Given the description of an element on the screen output the (x, y) to click on. 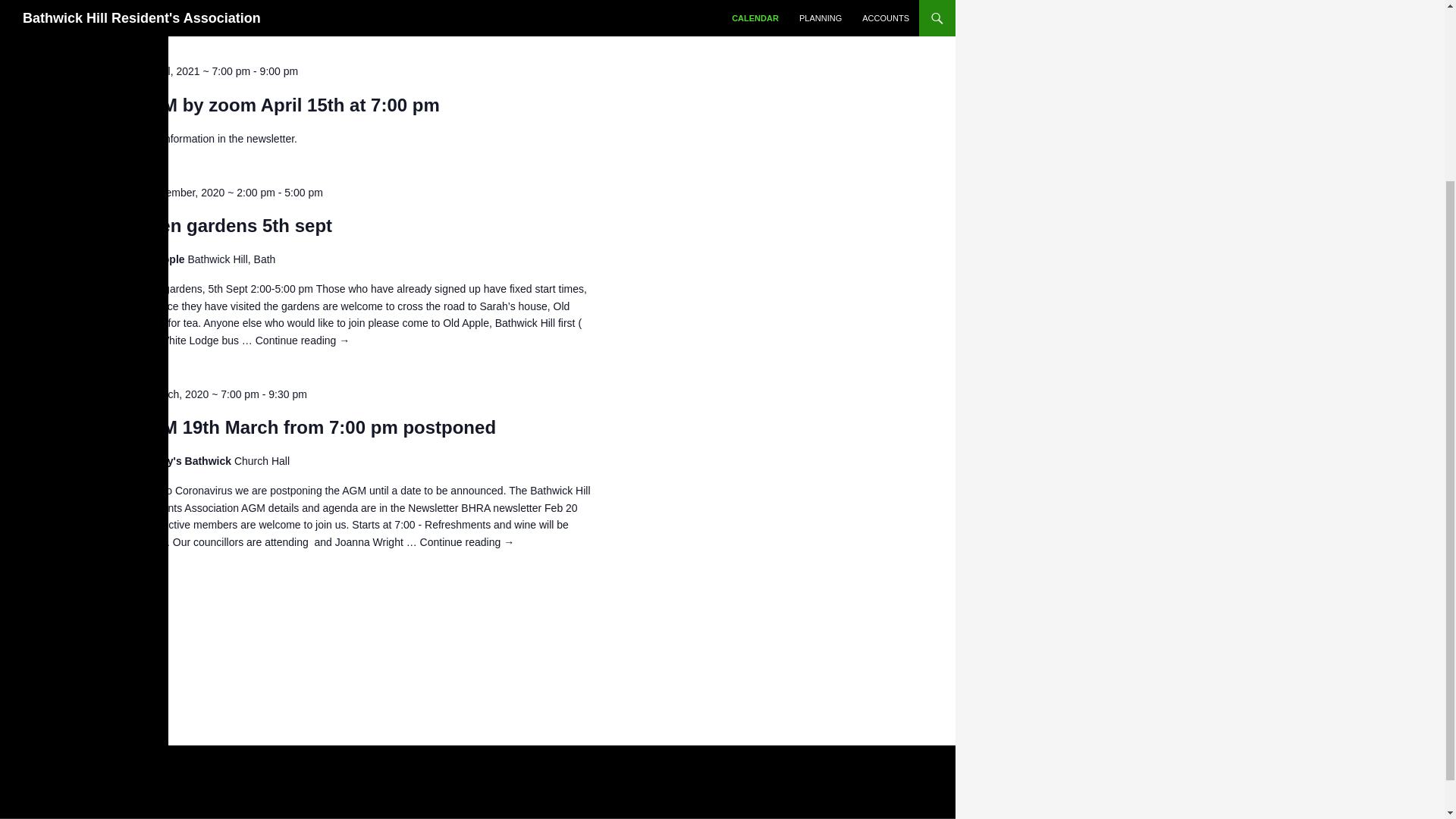
AGM 19th March from 7:00 pm postponed (315, 427)
AGM 19th March from 7:00 pm postponed (315, 427)
Open gardens 5th sept (233, 225)
AGM by zoom April 15th at 7:00 pm (287, 105)
Open gardens 5th sept (233, 225)
AGM by zoom April 15th at 7:00 pm (287, 105)
